Given the description of an element on the screen output the (x, y) to click on. 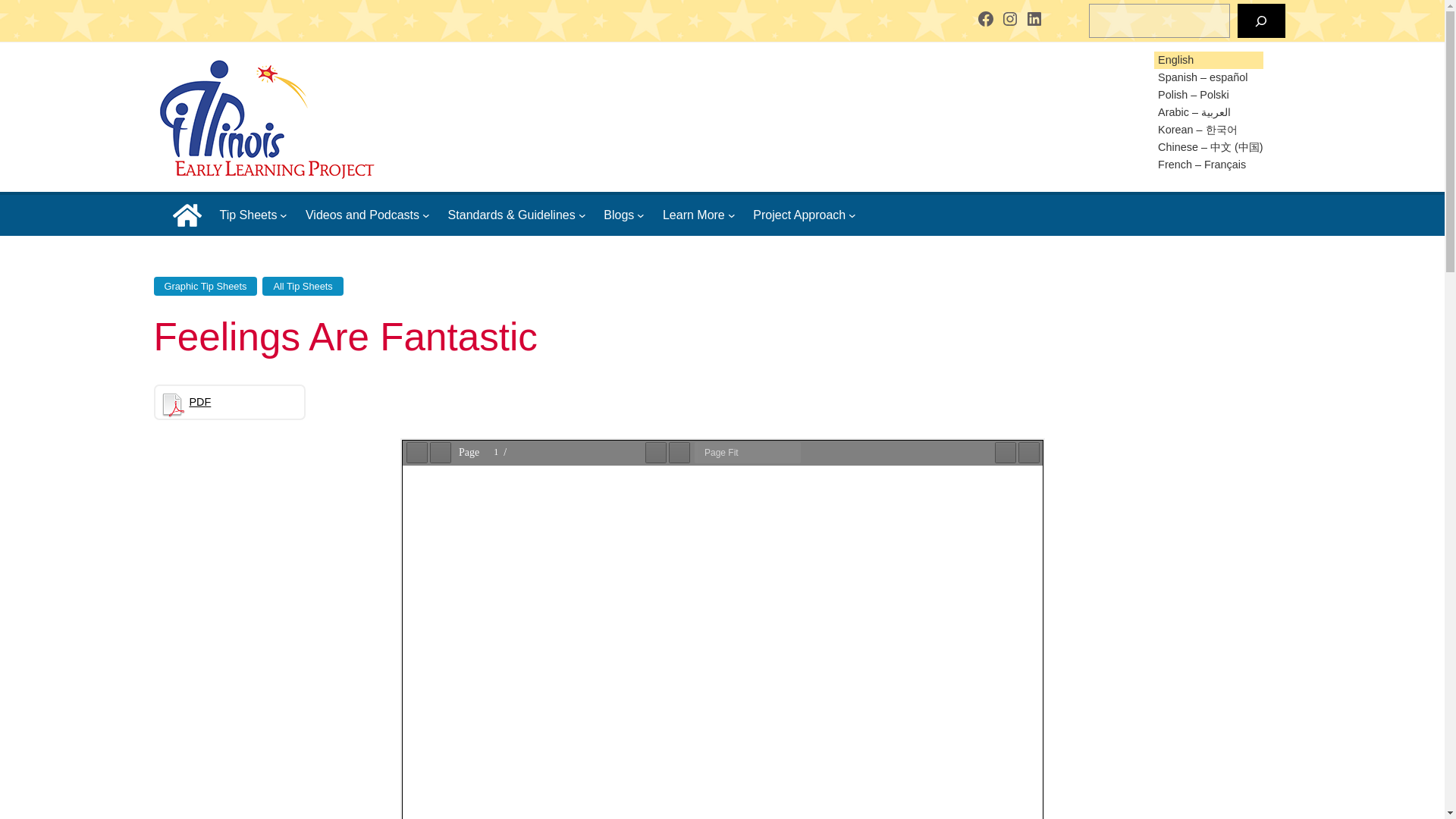
Tip Sheets (248, 215)
English (1173, 60)
Instagram (1010, 18)
Facebook (985, 18)
Blogs (618, 215)
LinkedIn (1034, 18)
Videos and Podcasts (362, 215)
